Given the description of an element on the screen output the (x, y) to click on. 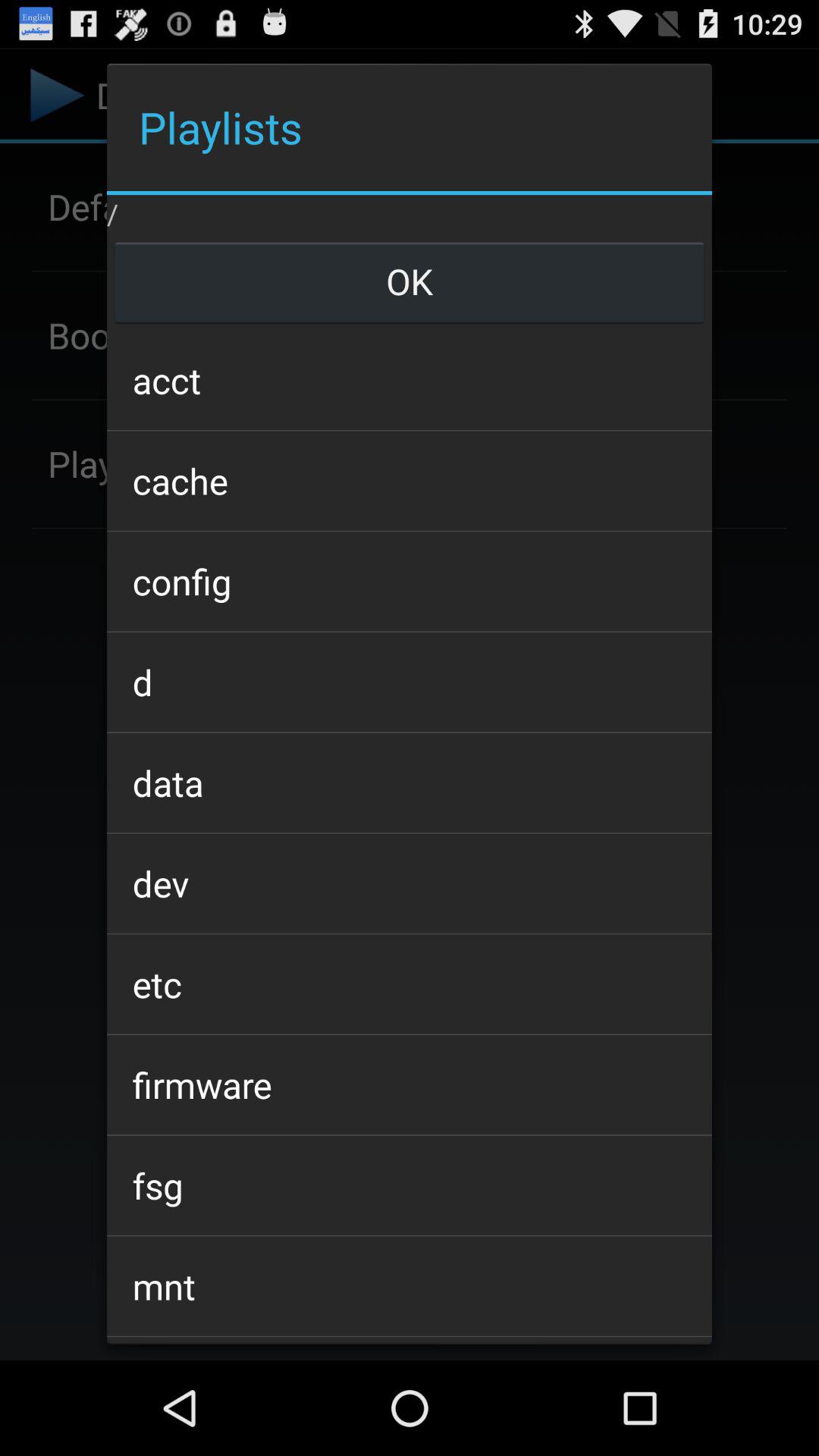
scroll to the etc icon (409, 983)
